Given the description of an element on the screen output the (x, y) to click on. 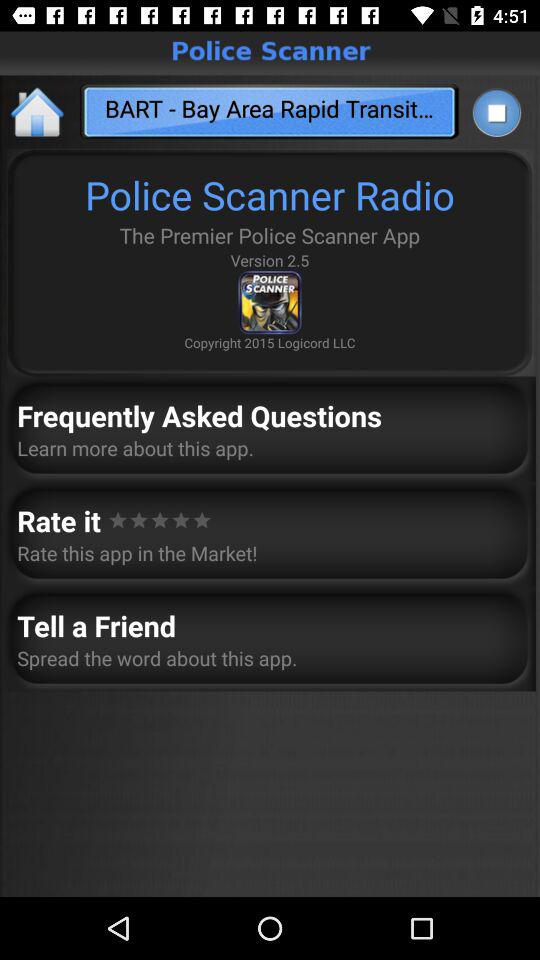
launch app next to bart bay area app (38, 111)
